Given the description of an element on the screen output the (x, y) to click on. 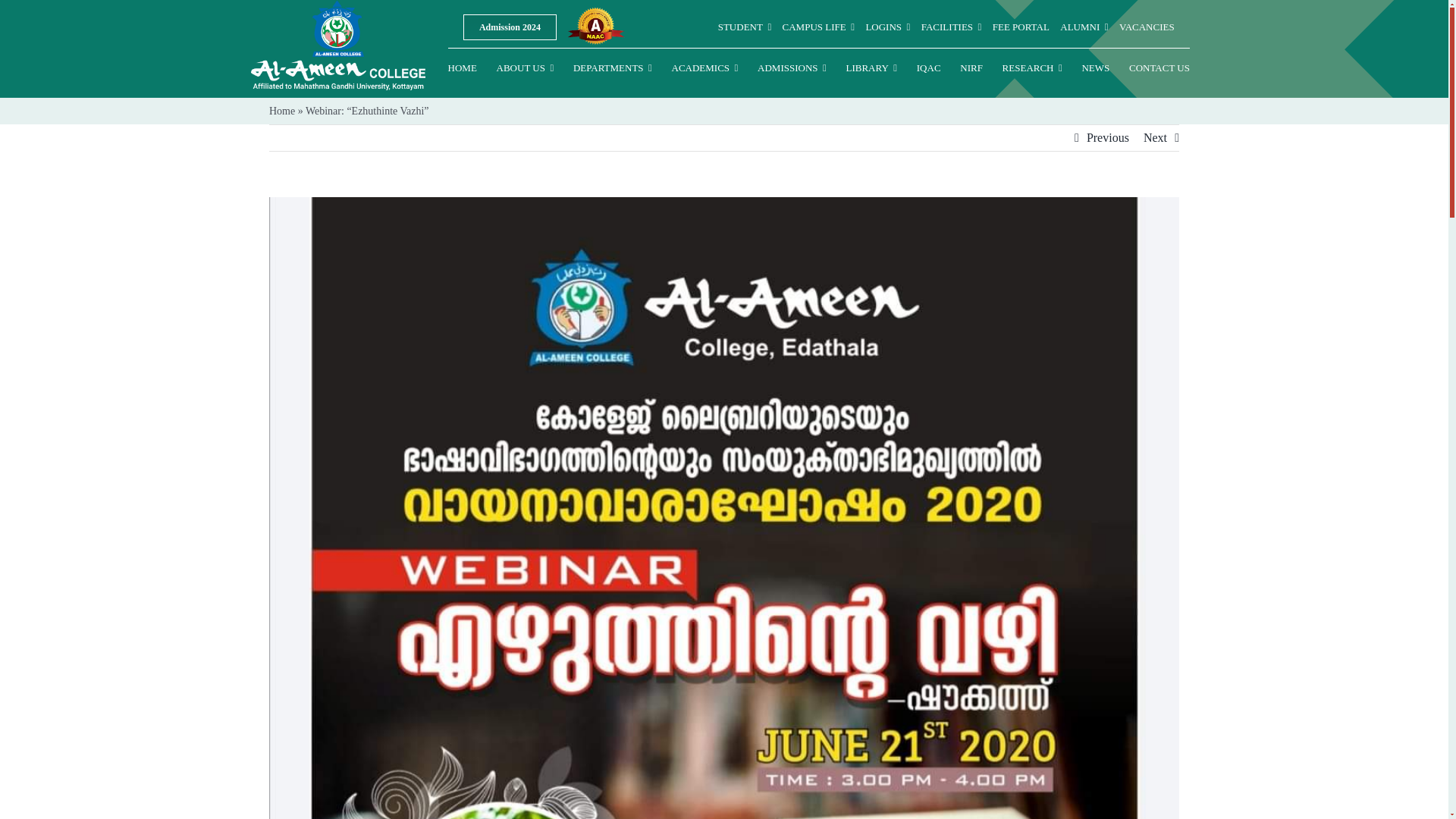
STUDENT (744, 26)
CAMPUS LIFE (818, 26)
Admission 2024 (509, 27)
